Given the description of an element on the screen output the (x, y) to click on. 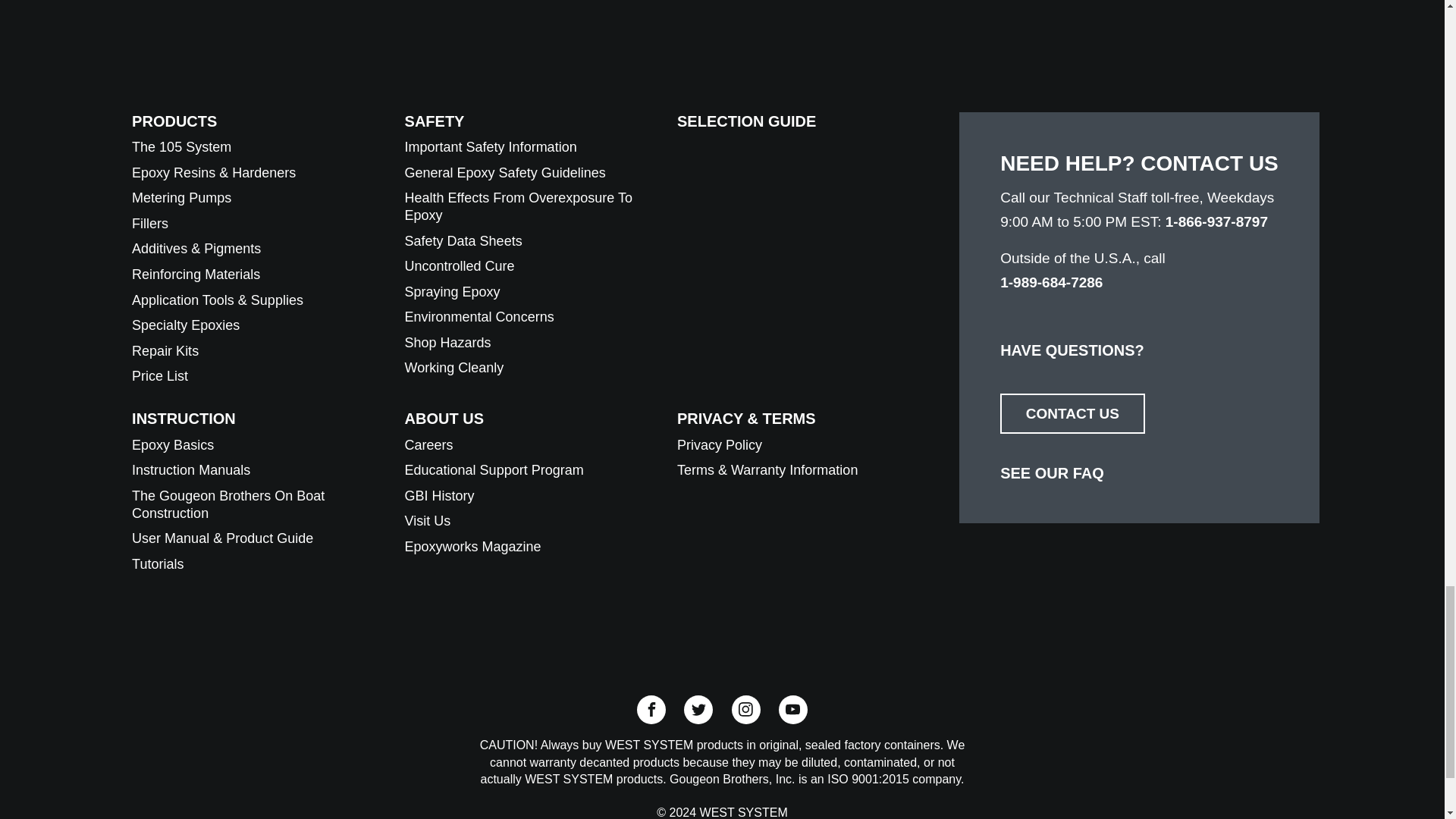
General Epoxy Safety Guidelines (504, 172)
Safety (434, 121)
Repair Kits (165, 350)
Reinforcing Materials (196, 273)
Specialty Epoxies (186, 324)
Safety Data Sheets (463, 240)
Health Effects from Overexposure to Epoxy (517, 206)
Important Safety Information (490, 146)
Products (174, 121)
Fillers (150, 223)
